Given the description of an element on the screen output the (x, y) to click on. 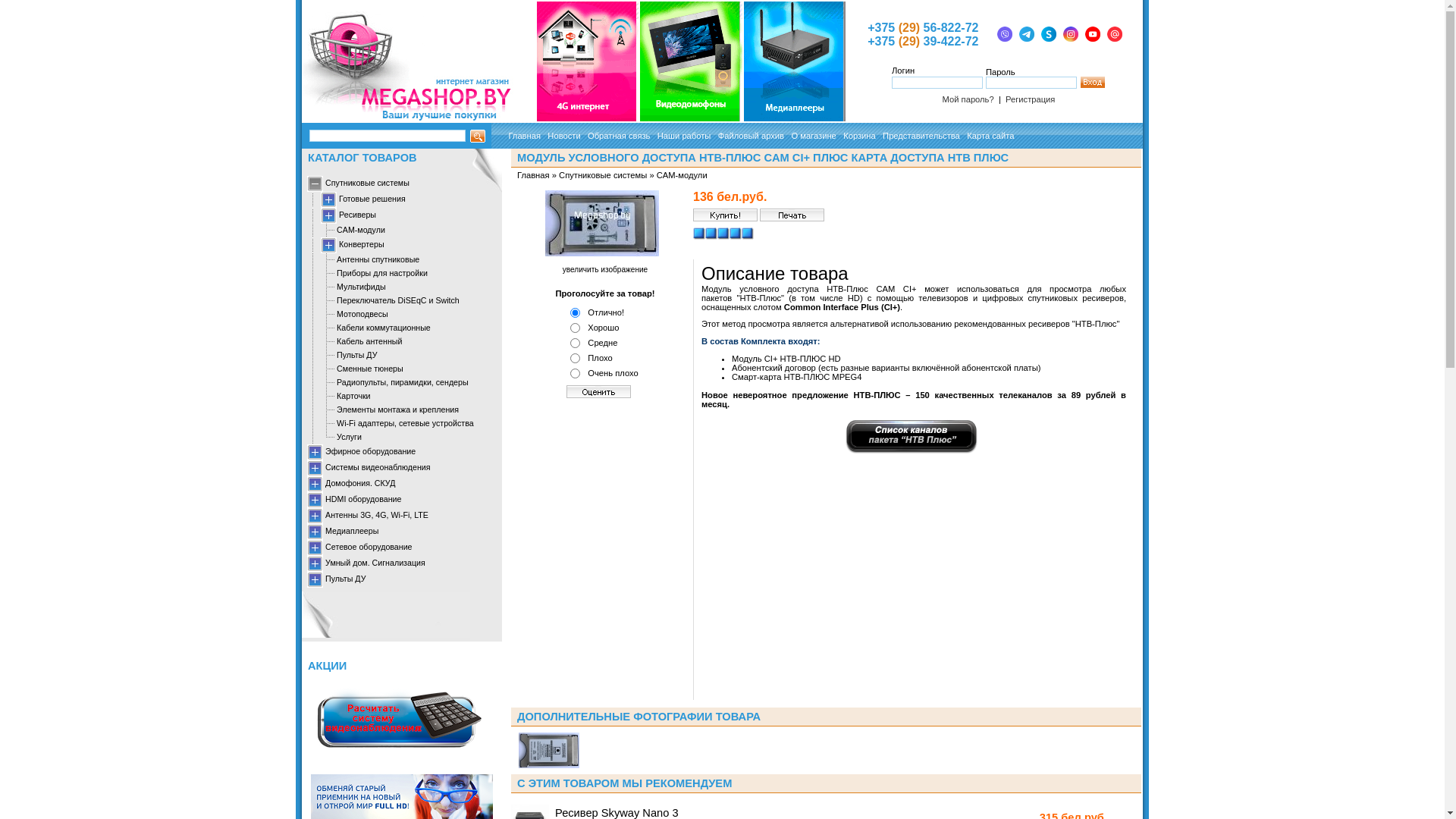
YouTube video player Element type: hover (913, 576)
